Given the description of an element on the screen output the (x, y) to click on. 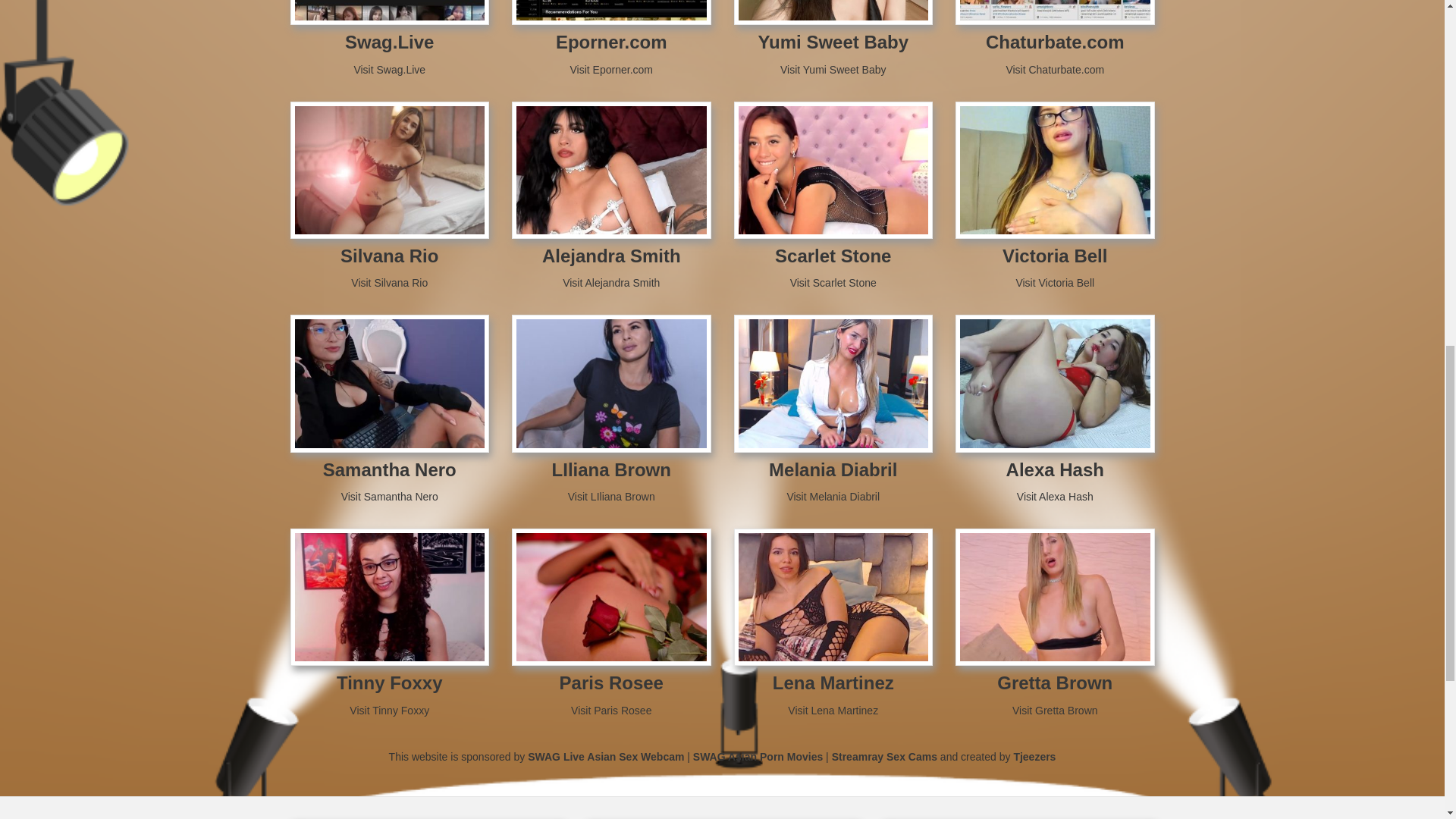
Visit Swag.Live (389, 69)
Visit Eporner.com (611, 69)
Visit Chaturbate.com (1054, 69)
Swag.Live (389, 41)
Eporner.com (611, 41)
Visit Yumi Sweet Baby (833, 69)
Chaturbate.com (1054, 41)
Yumi Sweet Baby (832, 41)
